Given the description of an element on the screen output the (x, y) to click on. 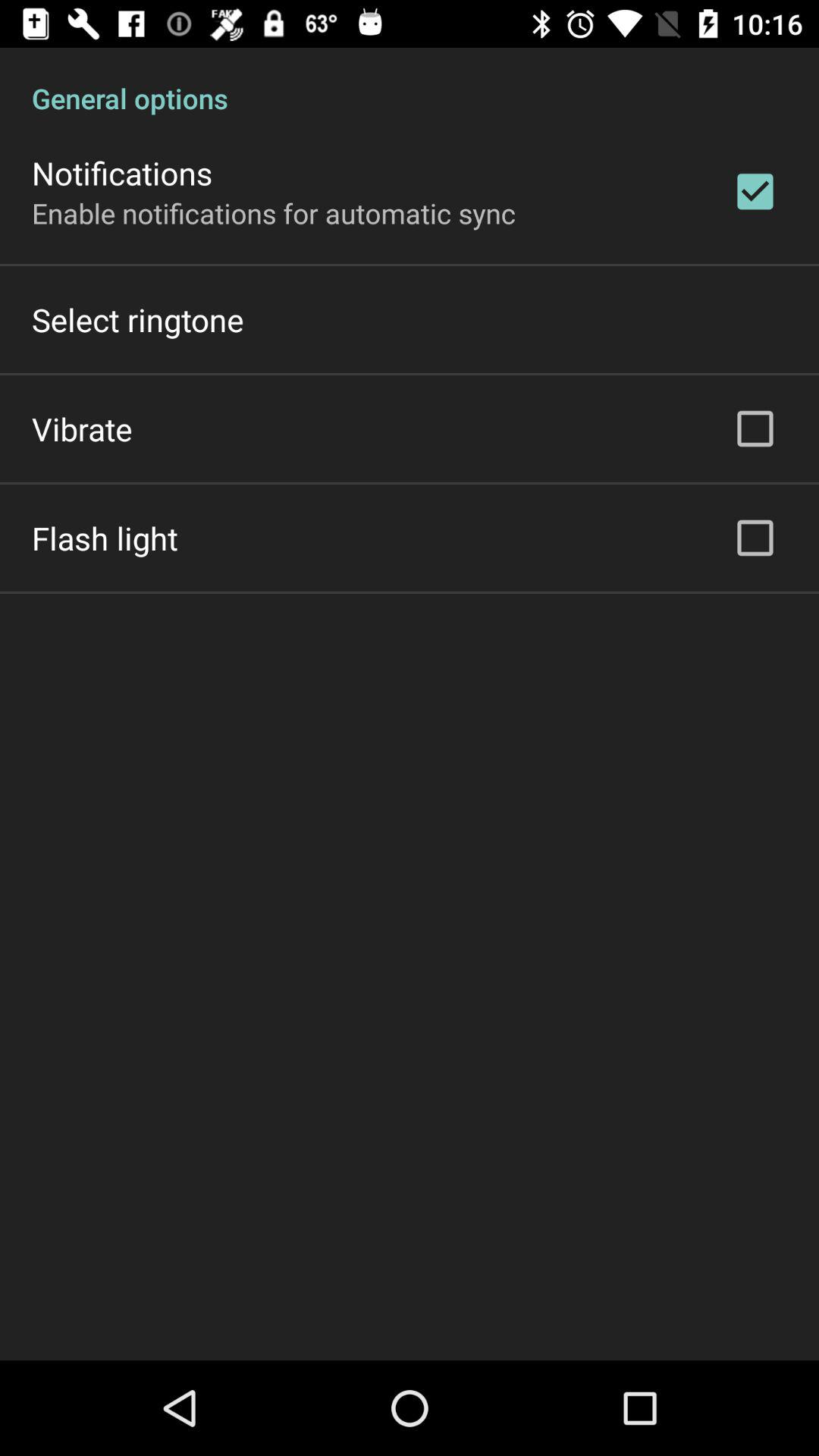
press select ringtone item (137, 319)
